Given the description of an element on the screen output the (x, y) to click on. 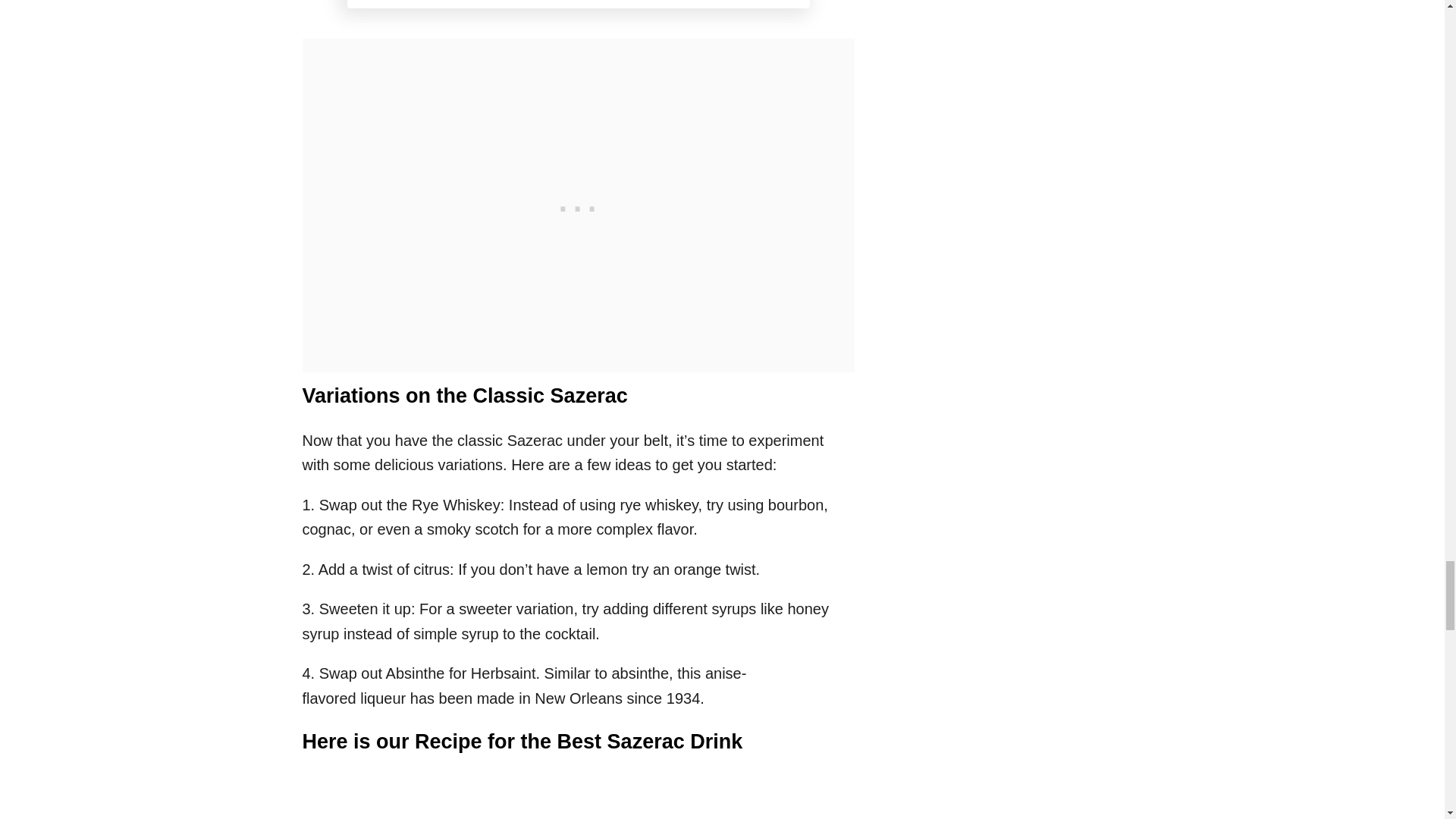
Sazerac Cocktail 5 (578, 805)
Sazerac Cocktail 4 (578, 4)
